Given the description of an element on the screen output the (x, y) to click on. 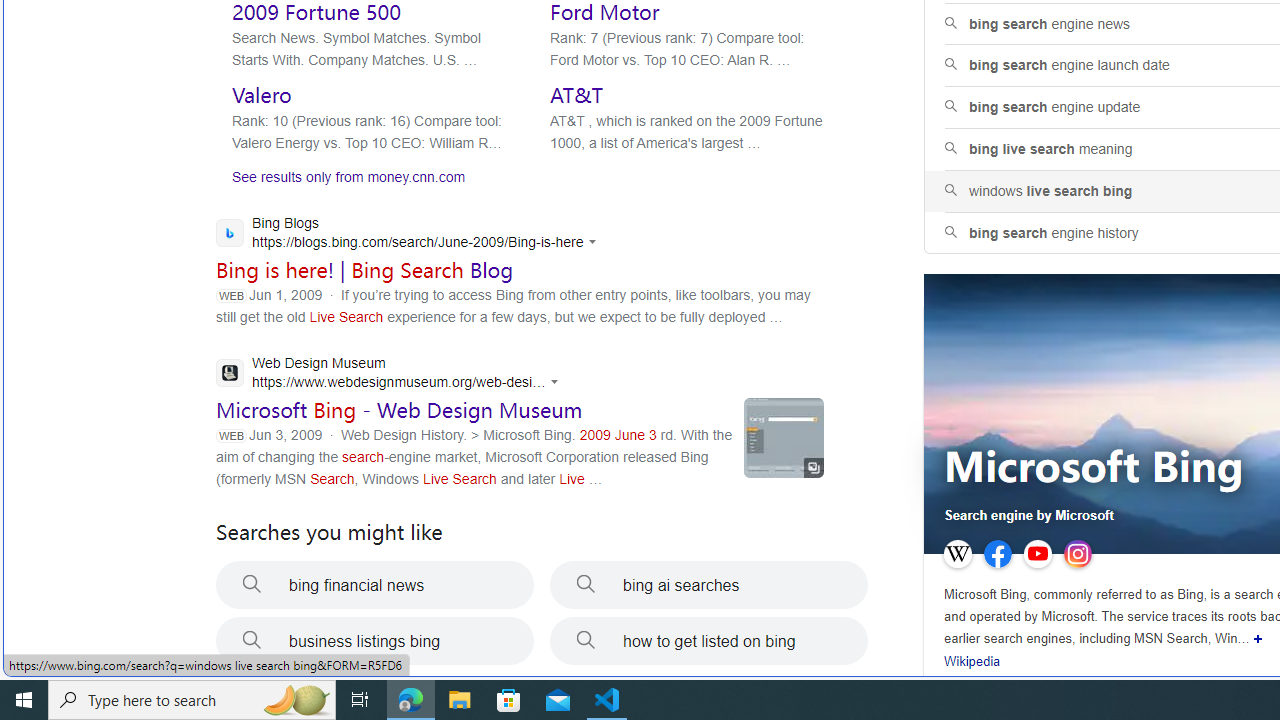
Bing is here! | Bing Search Blog (365, 269)
YouTube (1038, 554)
Wikipedia (972, 661)
See results only from money.cnn.com (340, 182)
Valero (261, 95)
bing ai searches (708, 584)
AT&T (576, 95)
how to get listed on bing (708, 641)
Microsoft Bing (1094, 468)
